Given the description of an element on the screen output the (x, y) to click on. 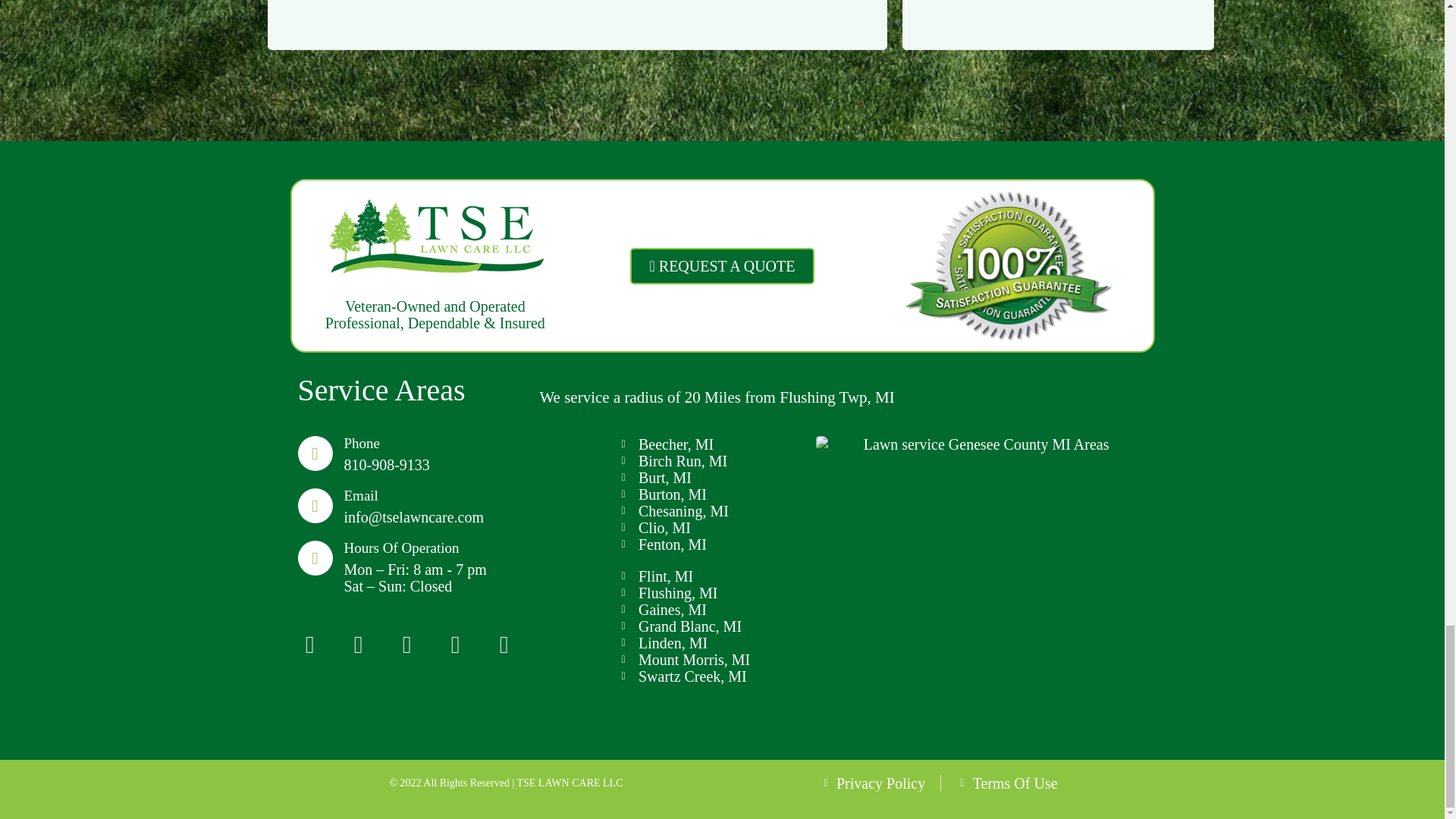
Phone (361, 442)
REQUEST A QUOTE (720, 266)
